Given the description of an element on the screen output the (x, y) to click on. 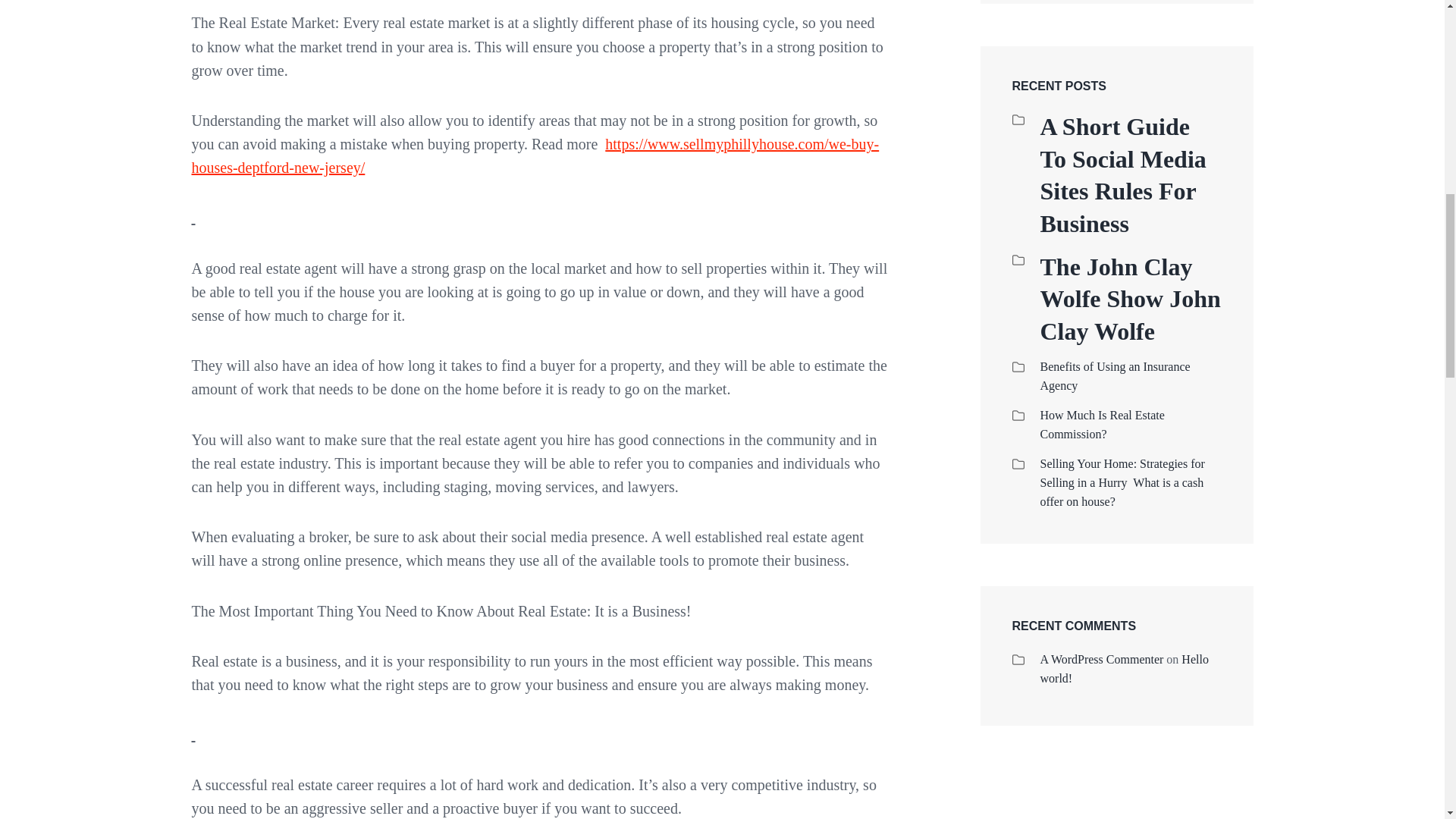
Benefits of Using an Insurance Agency (1116, 376)
Hello world! (1124, 668)
How Much Is Real Estate Commission? (1102, 424)
A Short Guide To Social Media Sites Rules For Business (1131, 174)
The John Clay Wolfe Show John Clay Wolfe (1131, 299)
A WordPress Commenter (1102, 658)
